Given the description of an element on the screen output the (x, y) to click on. 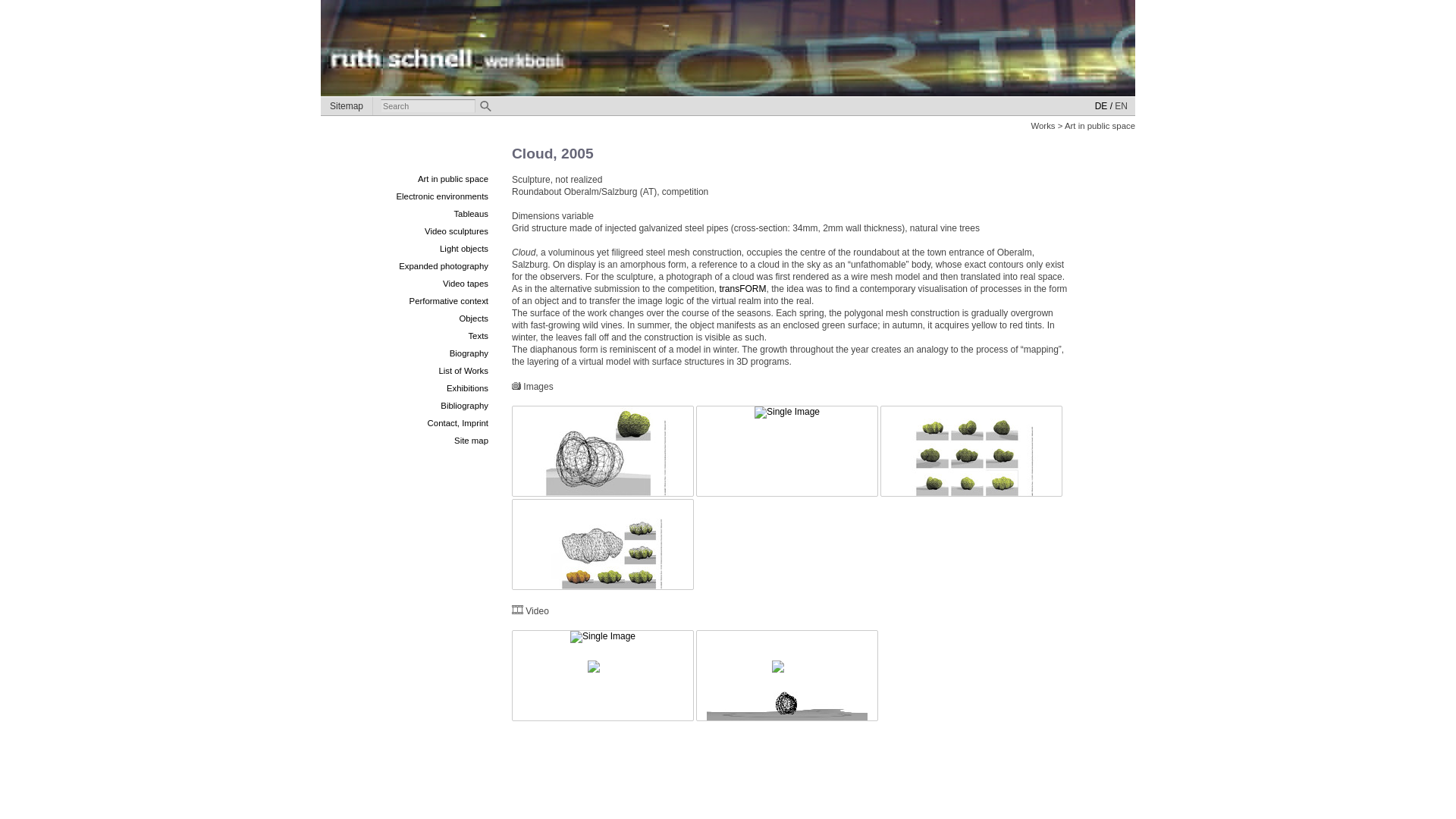
Objects (472, 317)
Tableaus (469, 213)
Expanded photography (442, 266)
List of Works (462, 370)
Show sitemap (346, 106)
Video sculptures (456, 230)
transFORM (742, 288)
Video tapes (464, 283)
Electronic environments (441, 195)
Light objects (463, 248)
Exhibitions (466, 388)
Bibliography (464, 405)
Performative context (448, 300)
Contact, Imprint (457, 422)
Art in public space (452, 178)
